Given the description of an element on the screen output the (x, y) to click on. 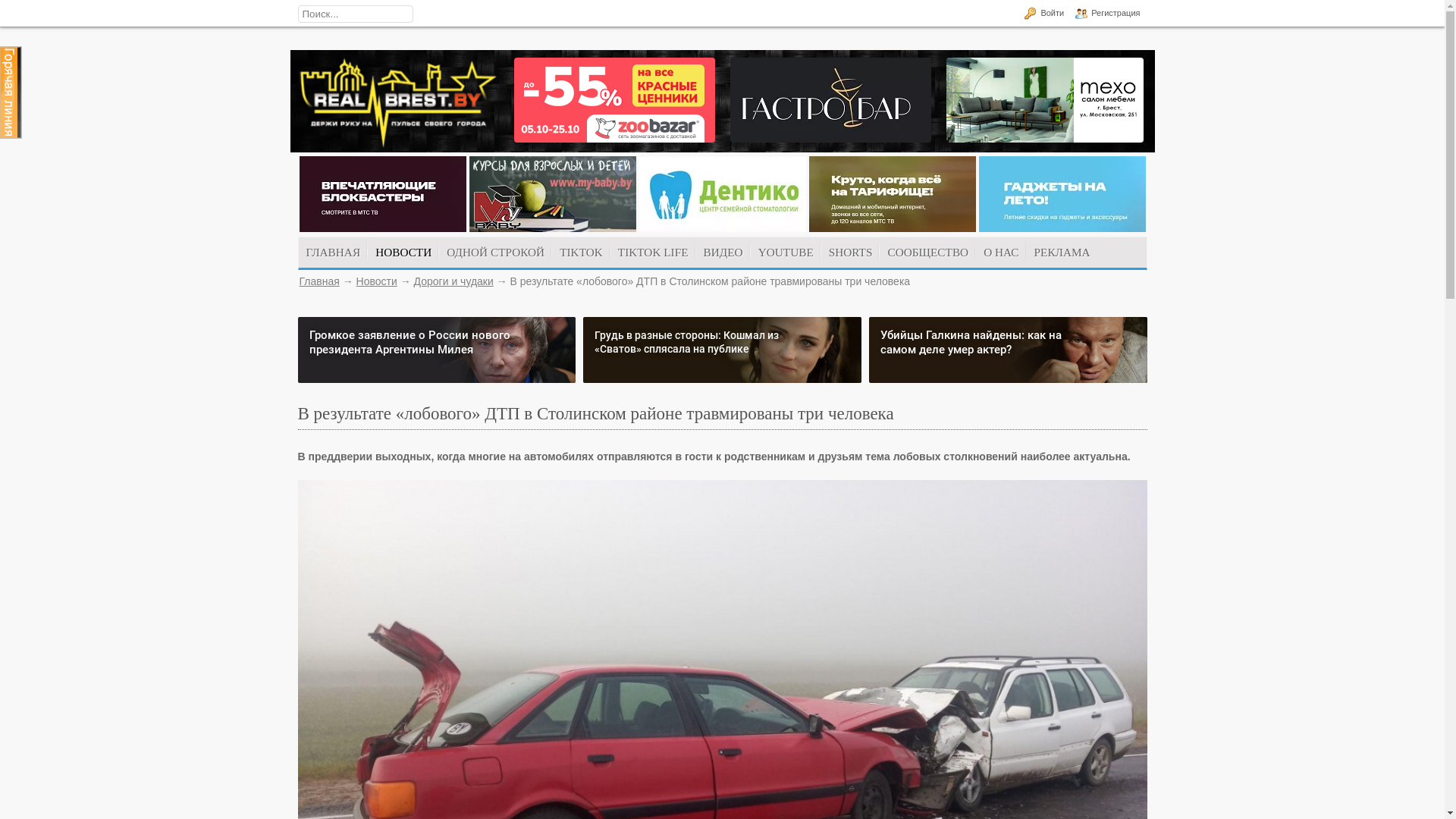
mexo.by Element type: hover (1044, 138)
SHORTS Element type: text (850, 252)
zoobazar Element type: hover (614, 138)
TIKTOK Element type: text (581, 252)
https://tv.mts.by Element type: hover (382, 228)
mts.by Element type: hover (891, 228)
TIKTOK LIFE Element type: text (653, 252)
status.brest Element type: hover (829, 138)
shop.mts.by Element type: hover (1061, 228)
YOUTUBE Element type: text (785, 252)
